Given the description of an element on the screen output the (x, y) to click on. 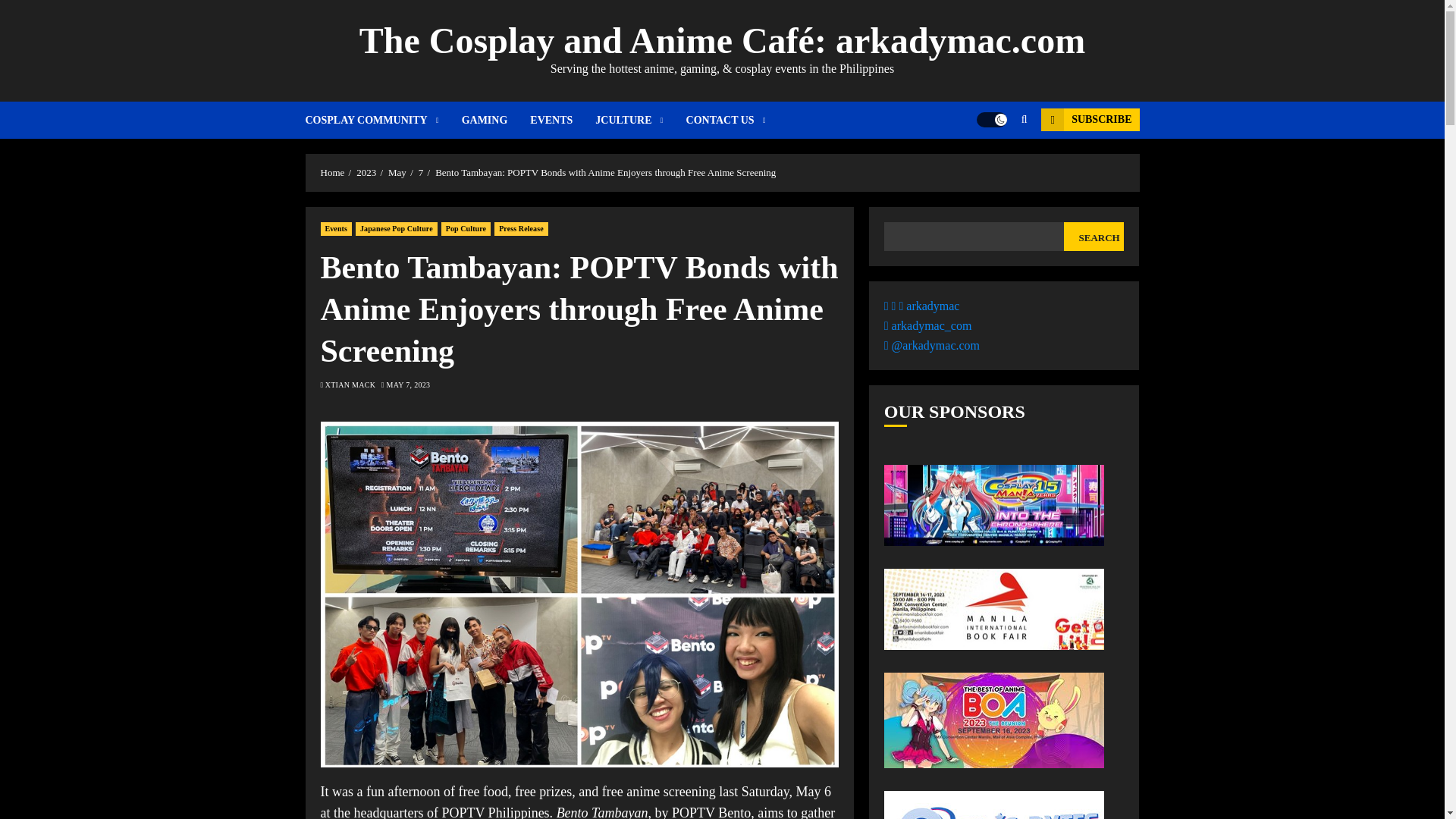
COSPLAY COMMUNITY (382, 119)
Home (331, 173)
JCULTURE (640, 119)
GAMING (496, 119)
Search (994, 165)
CONTACT US (725, 119)
EVENTS (562, 119)
SUBSCRIBE (1089, 119)
May (397, 173)
